Given the description of an element on the screen output the (x, y) to click on. 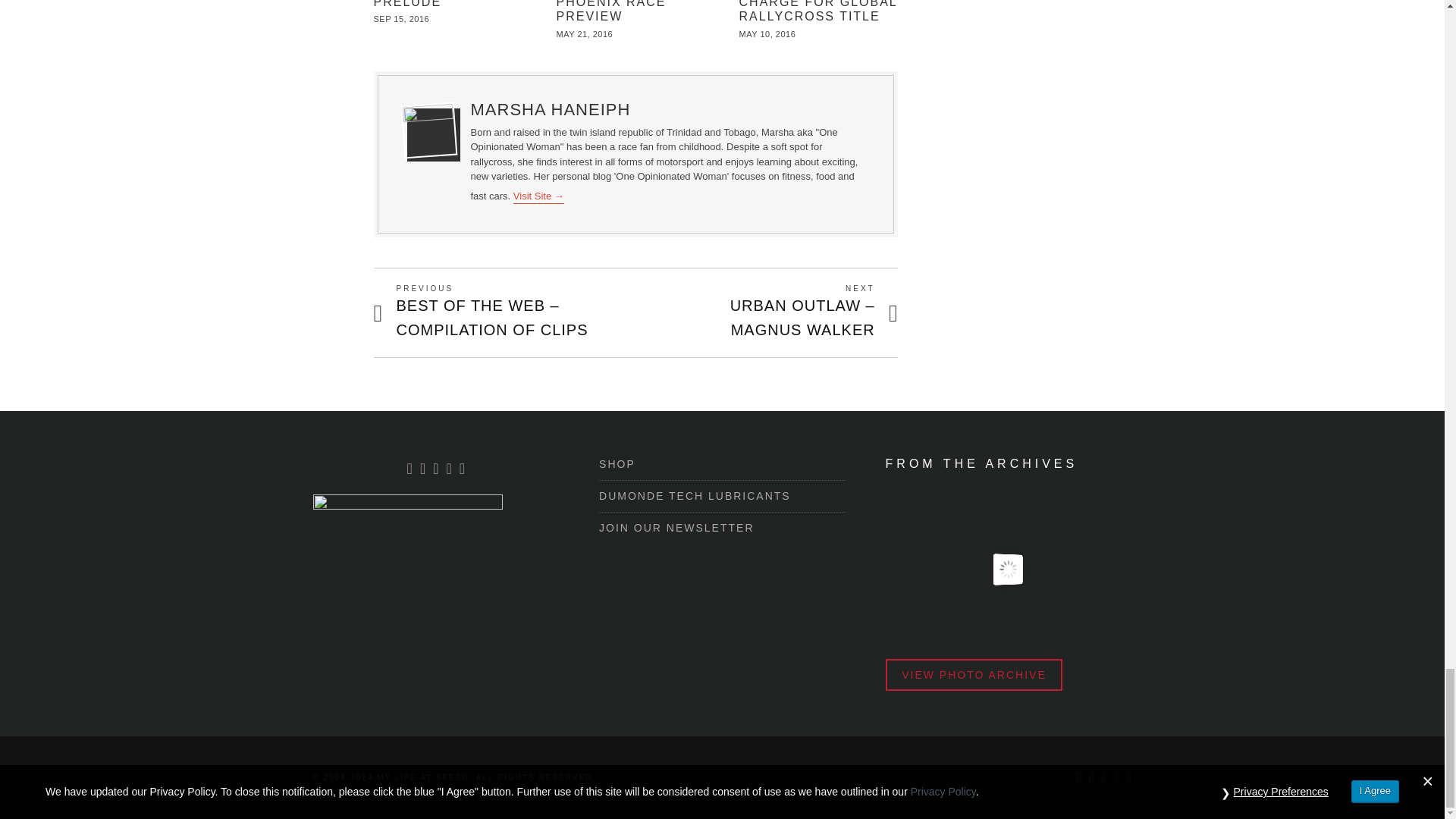
May 21, 2016 (584, 33)
May 10, 2016 (767, 33)
